Given the description of an element on the screen output the (x, y) to click on. 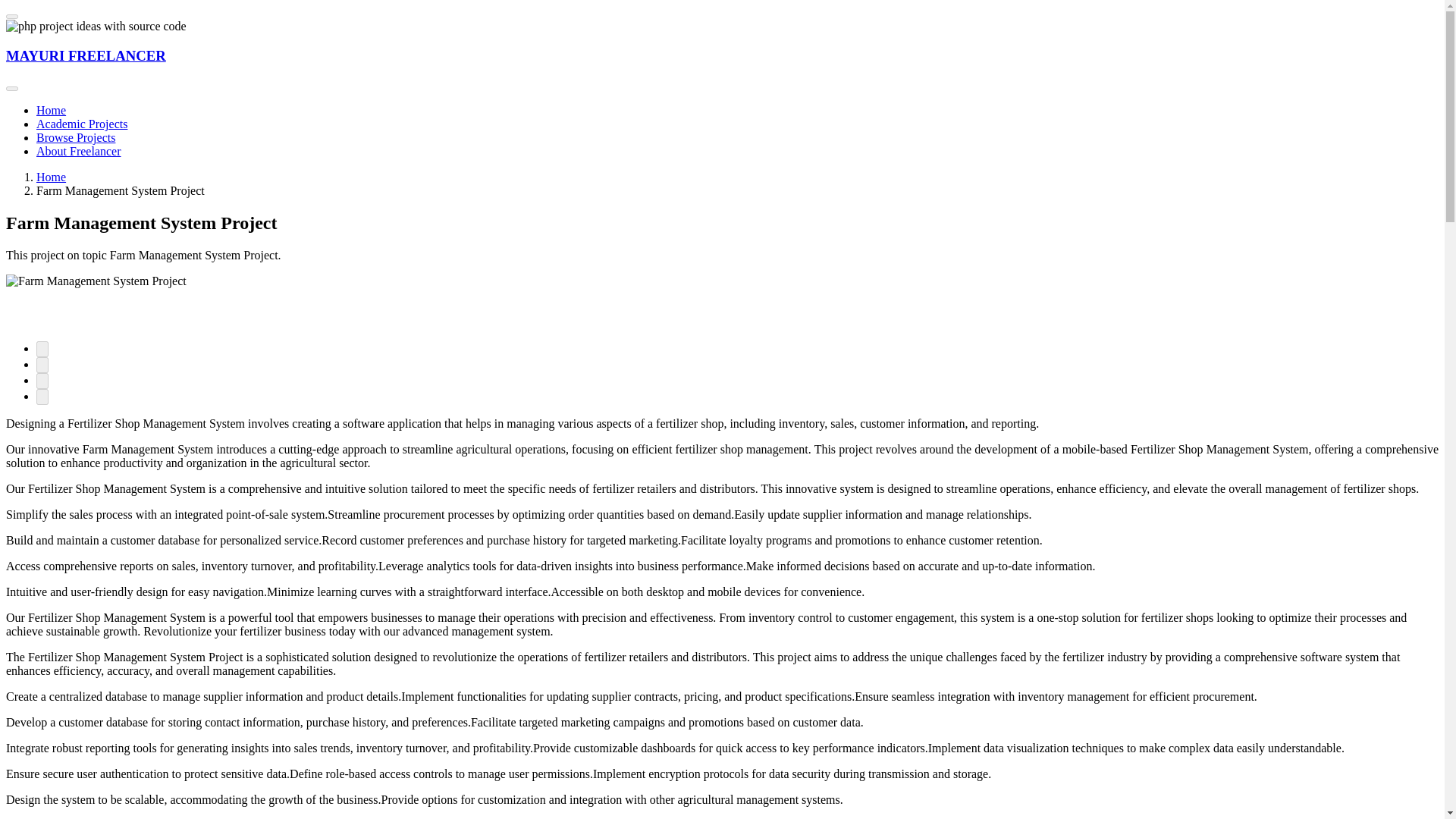
Home (50, 110)
Academic Projects (82, 123)
About Freelancer (78, 151)
MAYURI FREELANCER (85, 55)
Home (50, 176)
Browse Projects (75, 137)
